Given the description of an element on the screen output the (x, y) to click on. 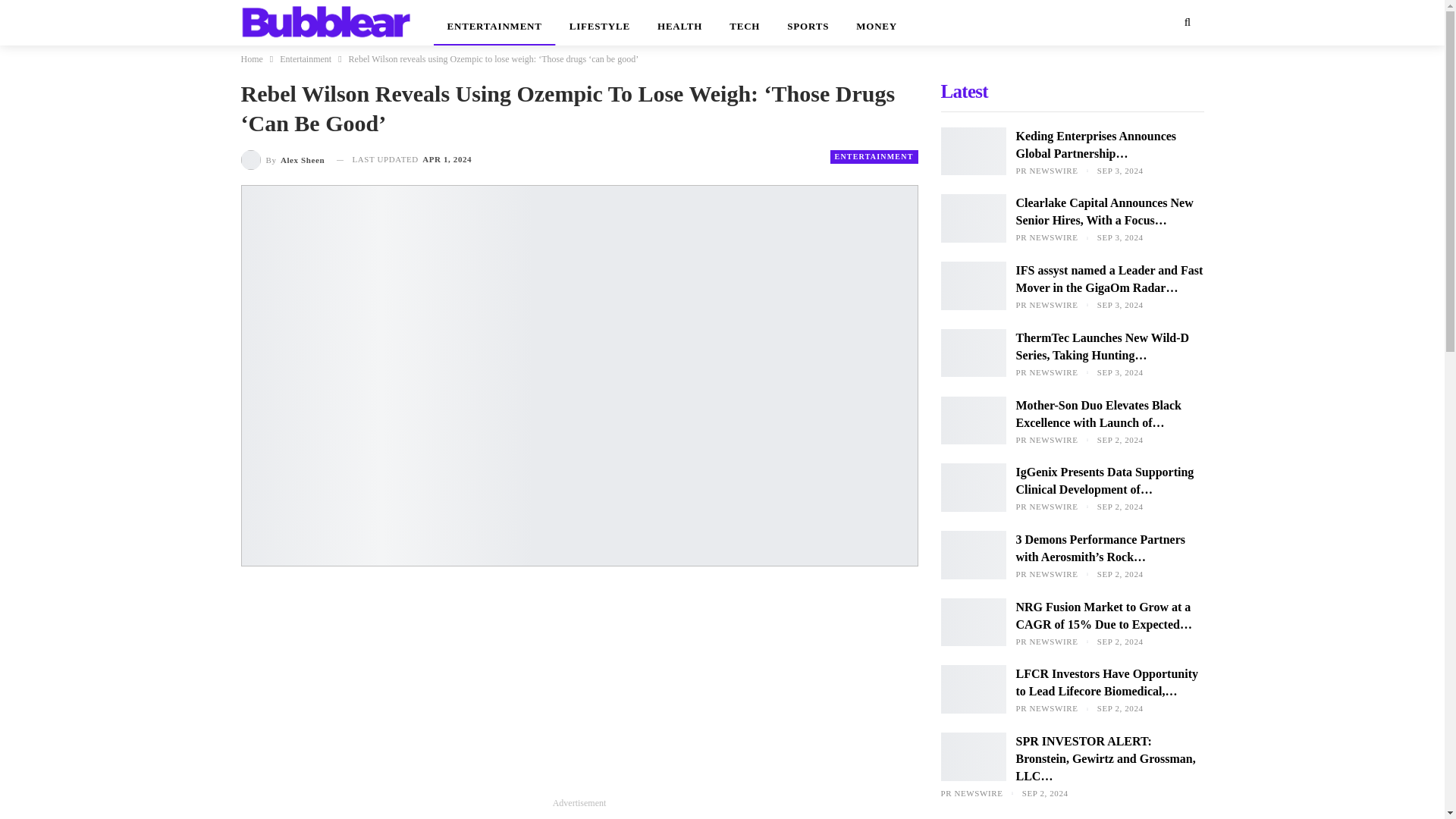
By Alex Sheen (282, 159)
MONEY (877, 22)
Entertainment (305, 58)
Home (252, 58)
Browse Author Articles (282, 159)
SPORTS (808, 22)
TECH (744, 22)
ENTERTAINMENT (494, 22)
ENTERTAINMENT (873, 156)
HEALTH (679, 22)
